Given the description of an element on the screen output the (x, y) to click on. 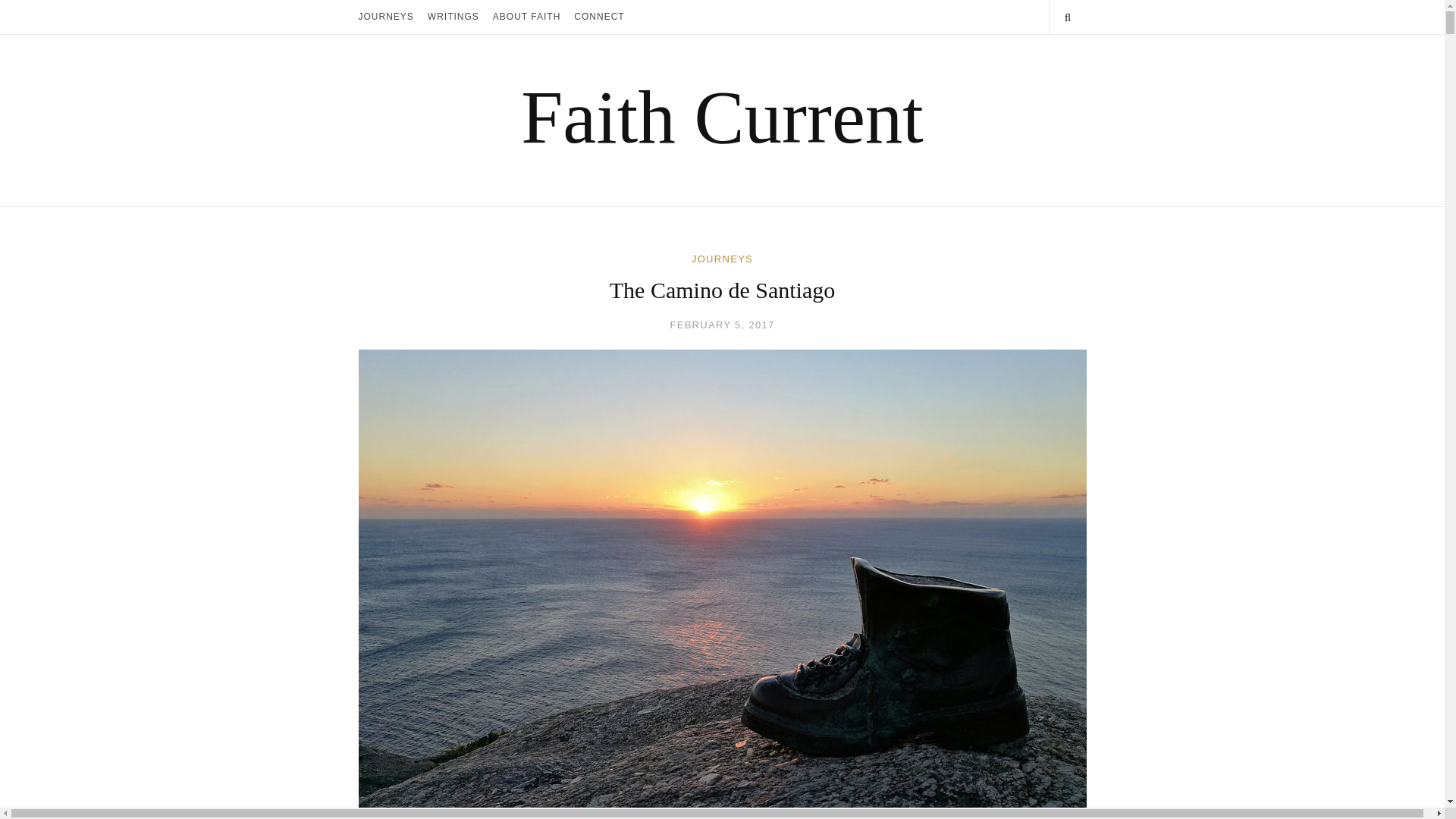
CONNECT (598, 17)
ABOUT FAITH (526, 17)
JOURNEYS (385, 17)
WRITINGS (453, 17)
Open Search (1067, 17)
JOURNEYS (721, 257)
Faith Current (722, 117)
FEBRUARY 5, 2017 (721, 324)
